Given the description of an element on the screen output the (x, y) to click on. 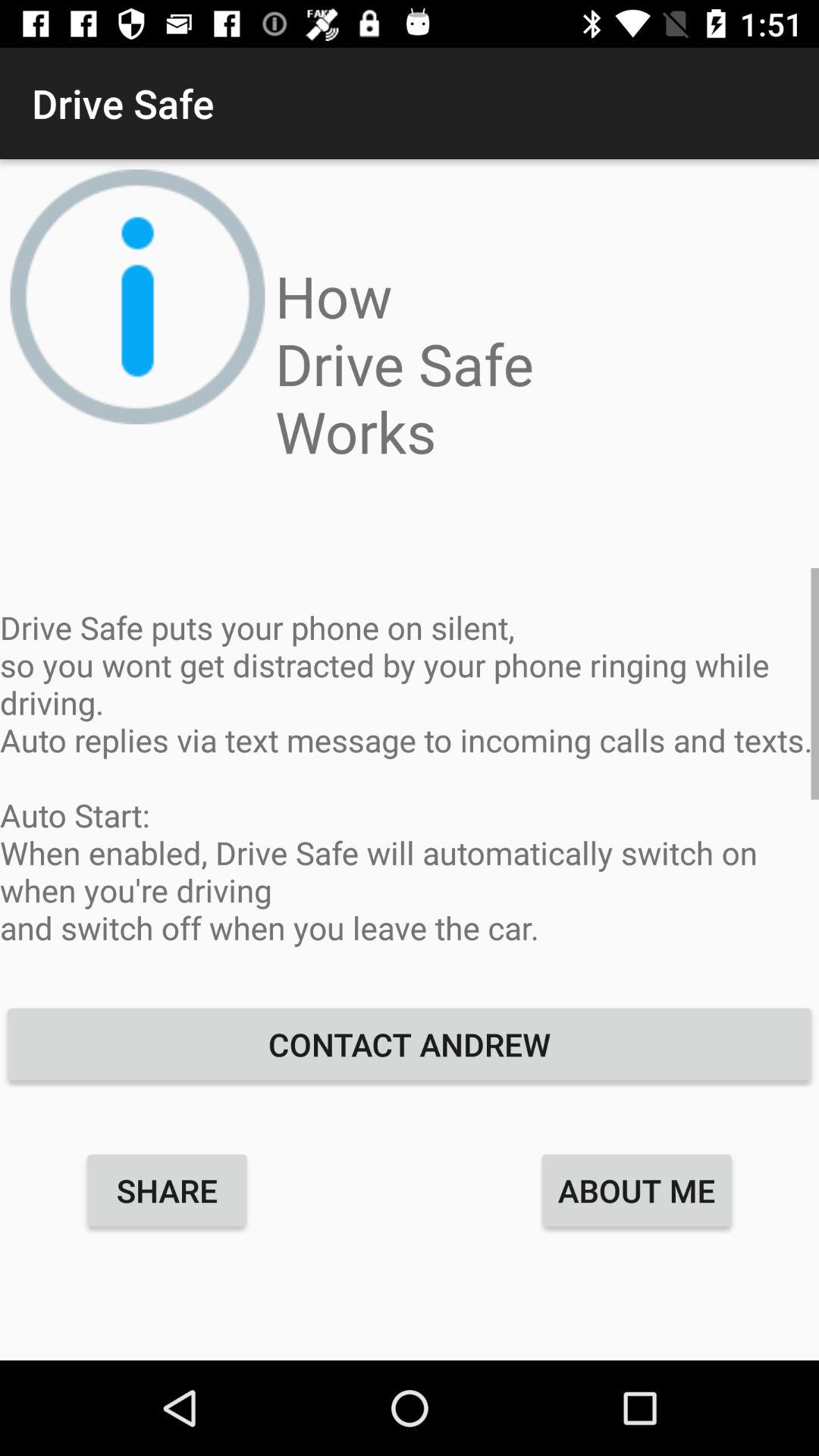
open icon at the bottom right corner (636, 1190)
